Given the description of an element on the screen output the (x, y) to click on. 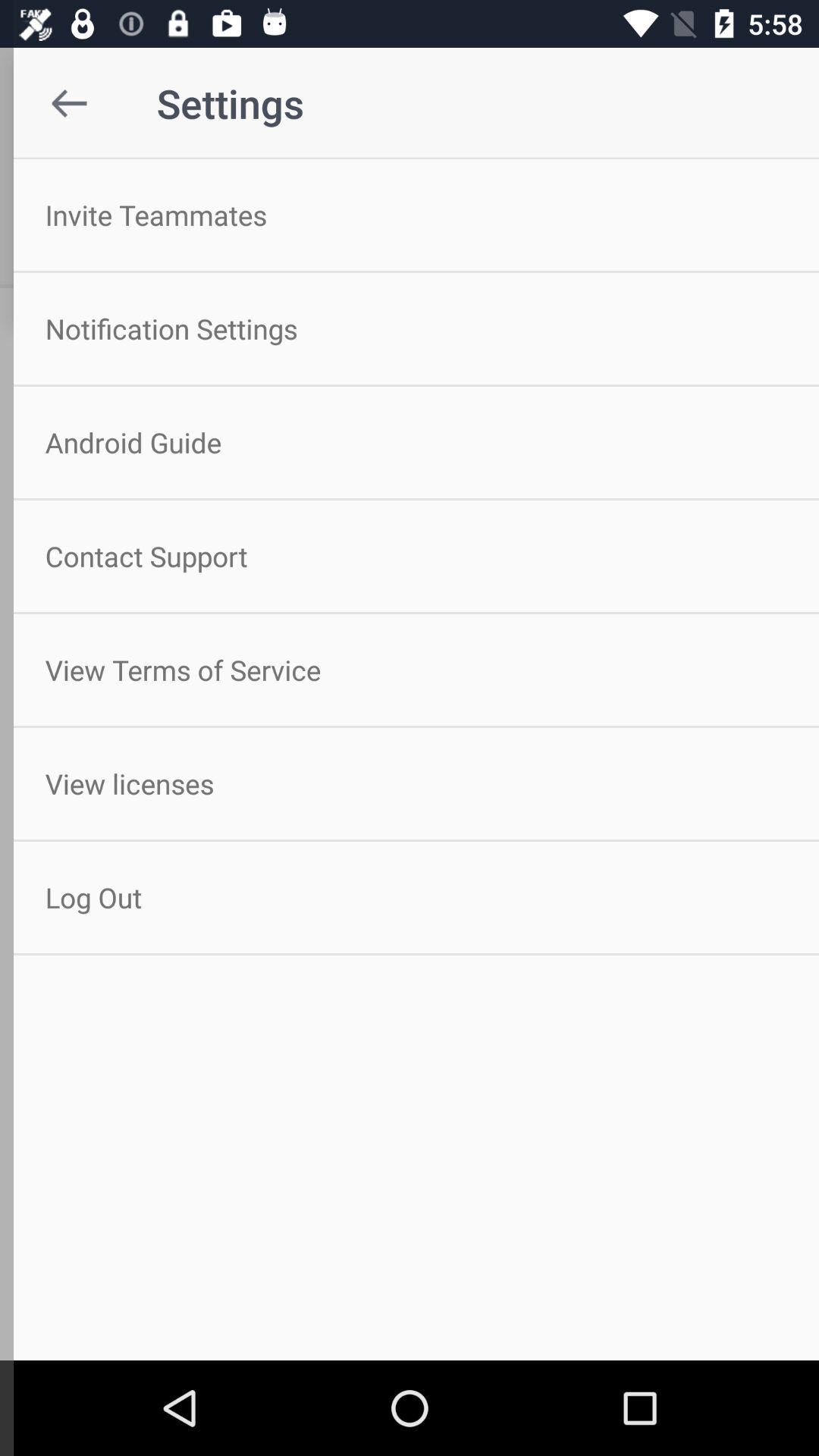
turn on the android guide item (409, 442)
